Given the description of an element on the screen output the (x, y) to click on. 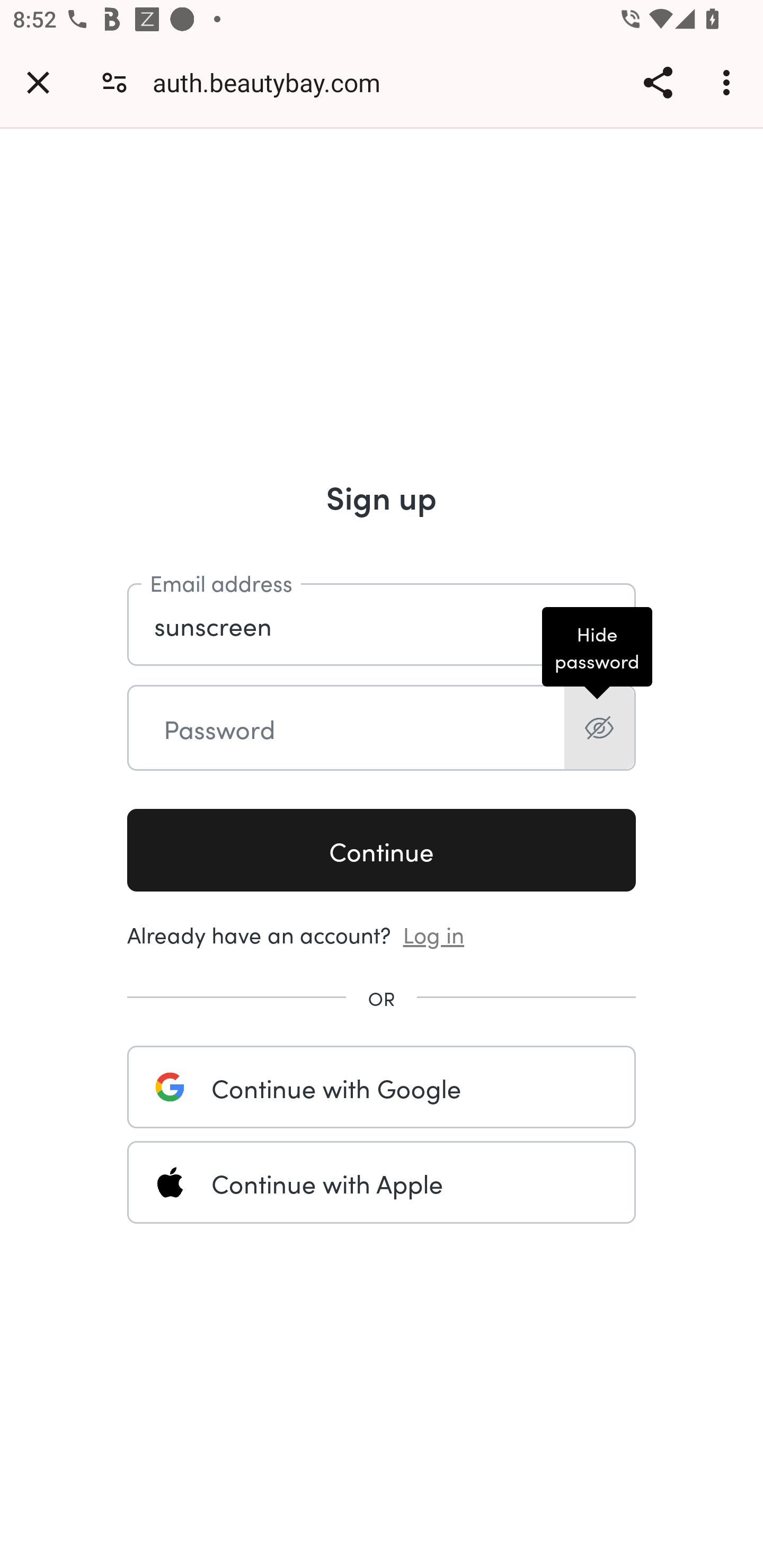
Close tab (38, 82)
Share (657, 82)
Customize and control Google Chrome (729, 82)
Connection is secure (114, 81)
auth.beautybay.com (272, 81)
sunscreen (381, 624)
Hide password (599, 727)
Continue (381, 850)
Log in (433, 933)
Continue with Google (381, 1086)
Continue with Apple (381, 1182)
